Given the description of an element on the screen output the (x, y) to click on. 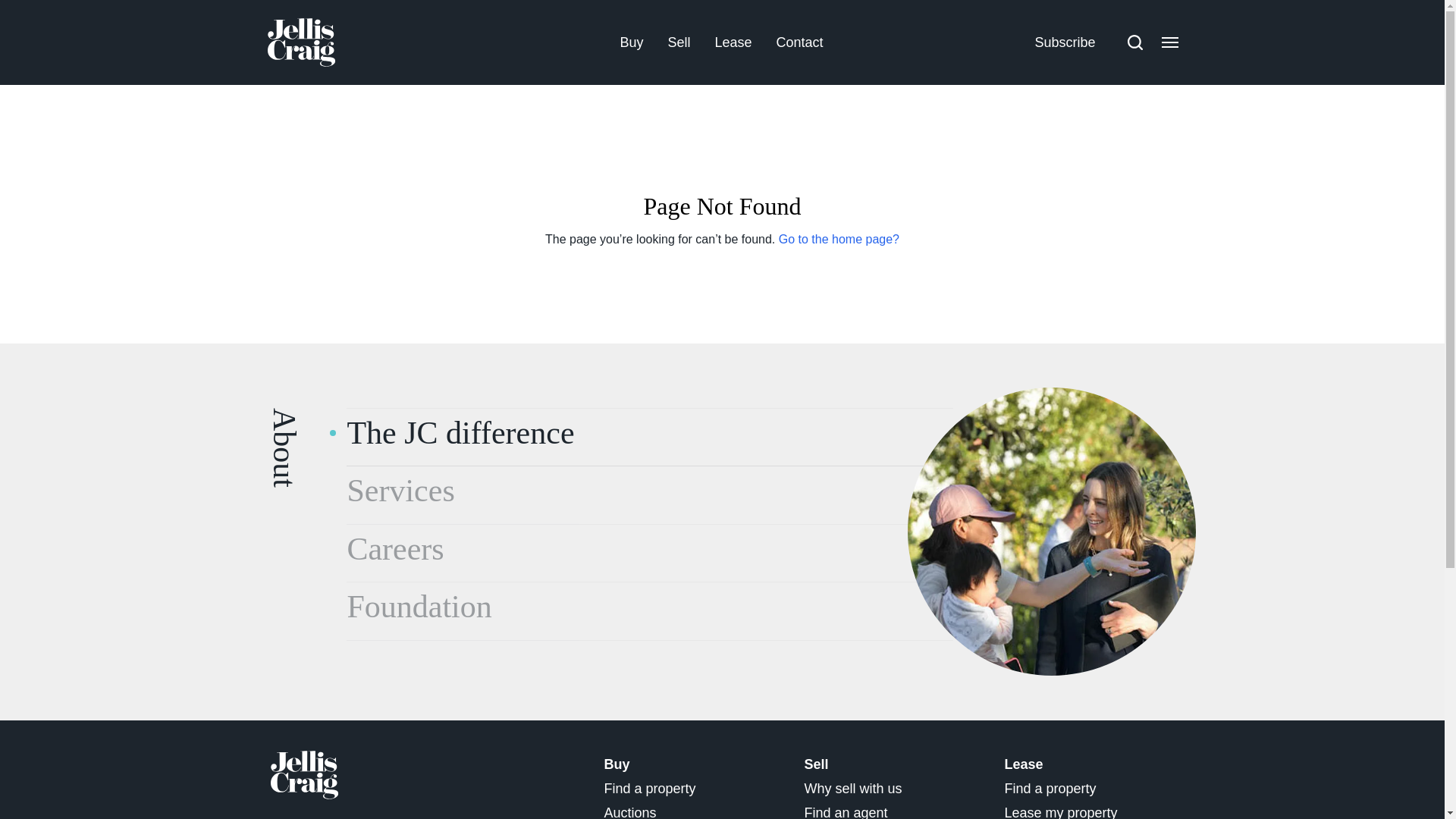
Contact (799, 41)
Subscribe (1064, 41)
Sell (678, 41)
Lease (731, 41)
Buy (631, 41)
The JC difference (1051, 531)
